Given the description of an element on the screen output the (x, y) to click on. 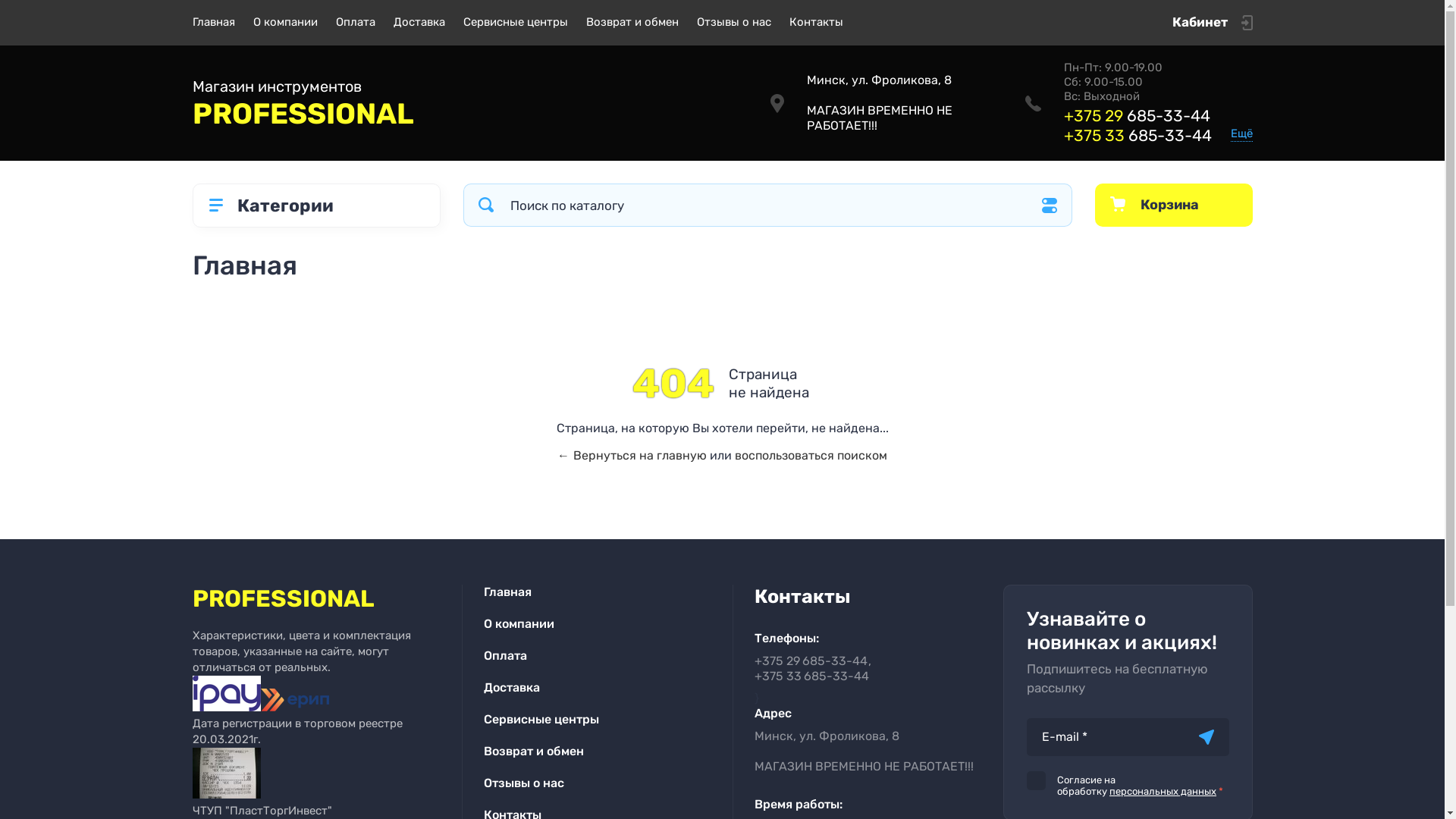
+375 29685-33-44 Element type: text (809, 660)
PROFESSIONAL Element type: text (458, 114)
+375 29685-33-44 Element type: text (1136, 115)
+375 33685-33-44 Element type: text (1137, 134)
+375 33685-33-44 Element type: text (810, 676)
